Given the description of an element on the screen output the (x, y) to click on. 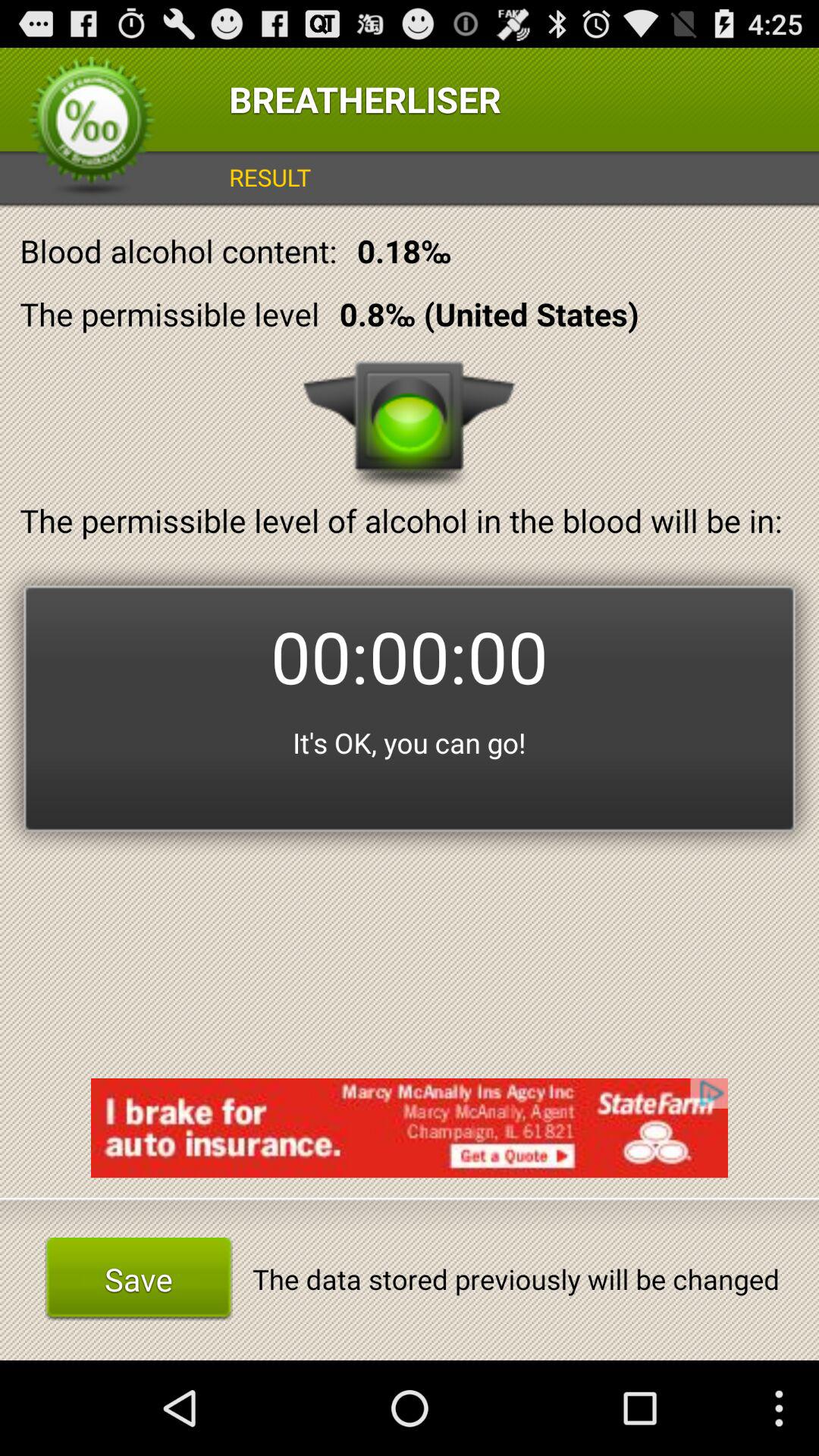
choose icon above save button (409, 1127)
